Given the description of an element on the screen output the (x, y) to click on. 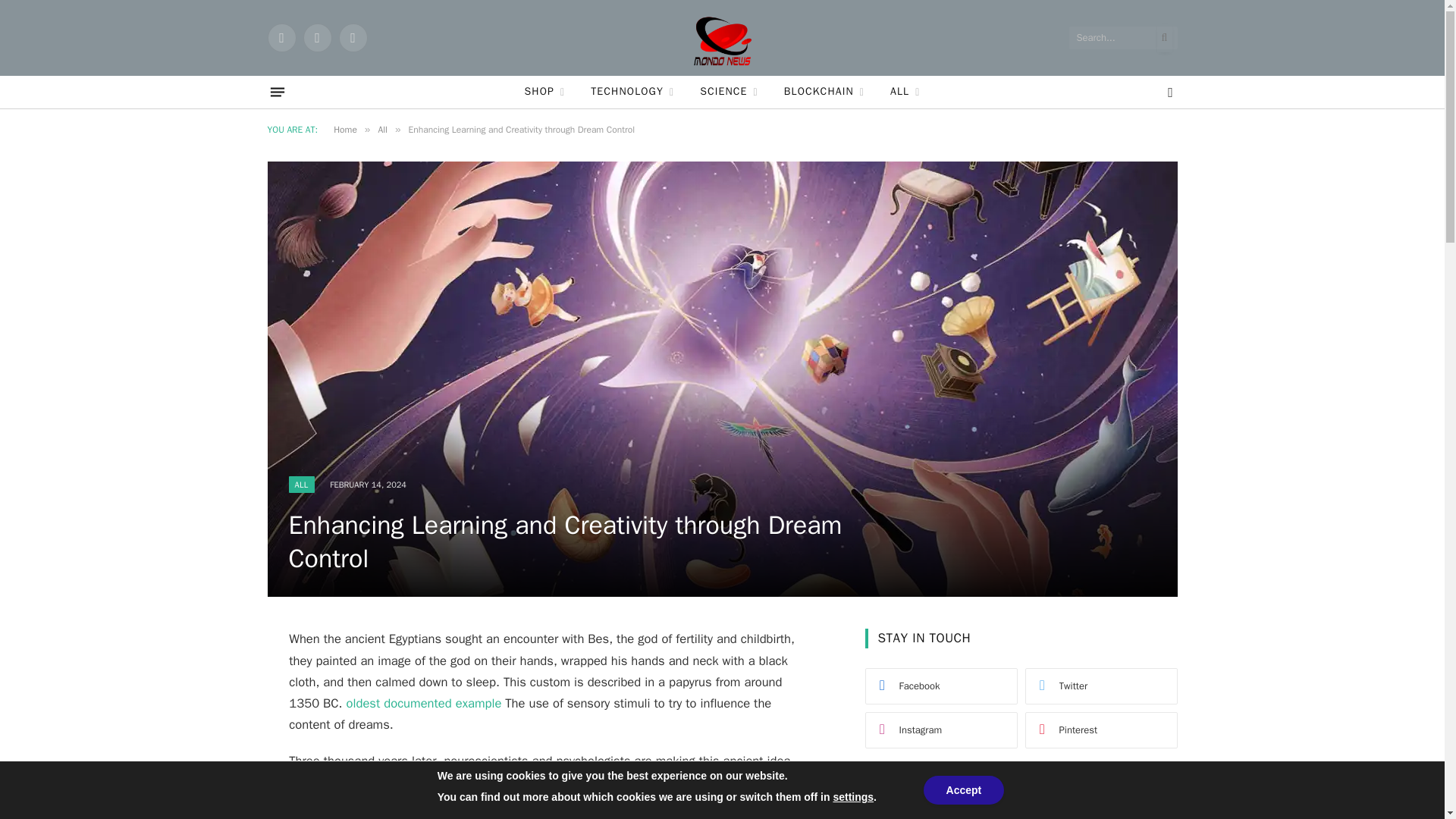
Instagram (351, 37)
Search (1146, 796)
Facebook (280, 37)
SHOP (545, 92)
TECHNOLOGY (632, 92)
Search (1146, 796)
